Given the description of an element on the screen output the (x, y) to click on. 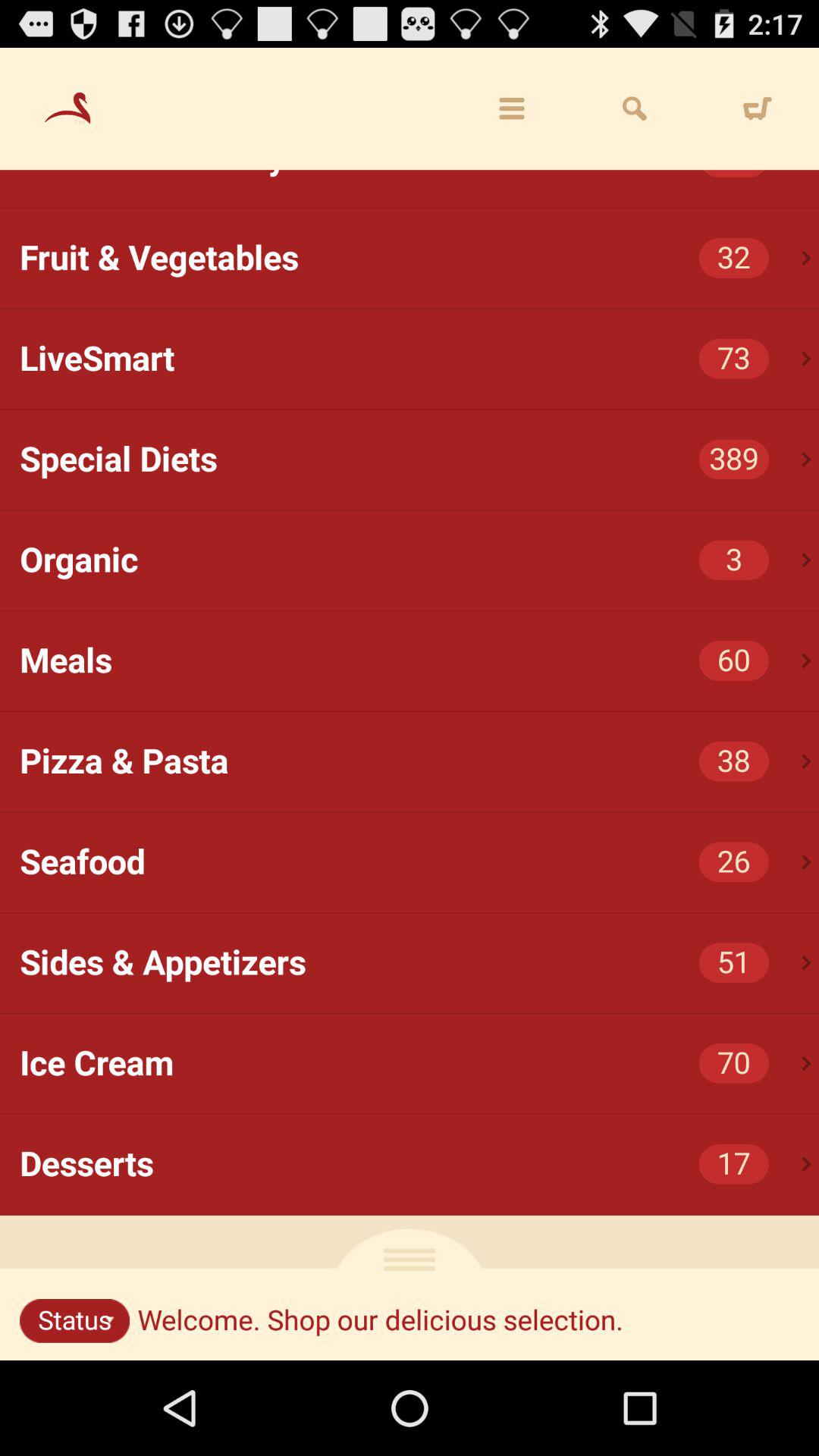
choose the 3 icon (733, 560)
